Given the description of an element on the screen output the (x, y) to click on. 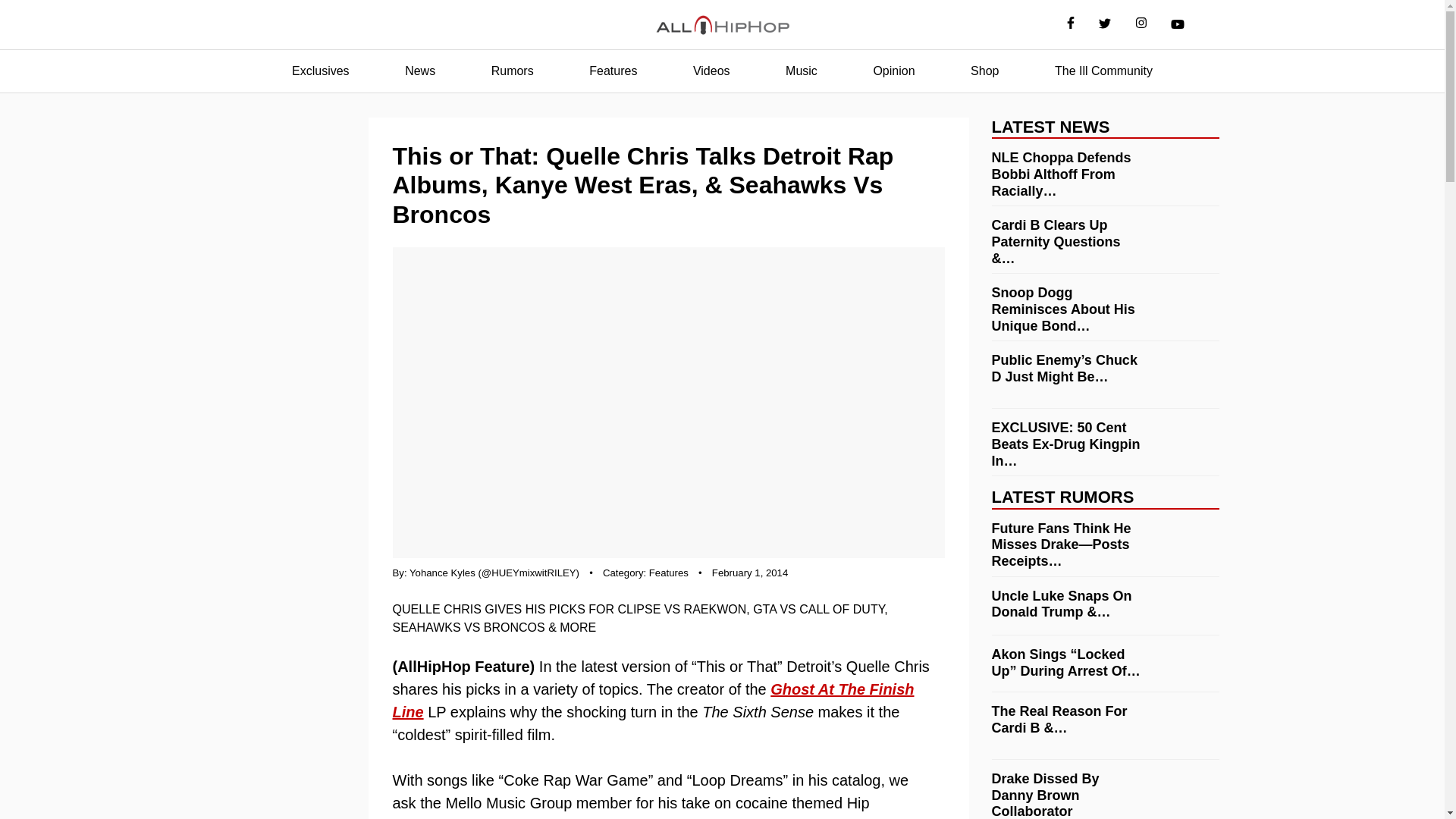
Rumors (512, 70)
Opinion (893, 70)
Videos (711, 70)
Exclusives (320, 70)
AllHipHop (722, 25)
Features (612, 70)
Features (668, 572)
February 1, 2014 (749, 572)
News (419, 70)
The Ill Community (1103, 70)
Music (801, 70)
Shop (984, 70)
